Given the description of an element on the screen output the (x, y) to click on. 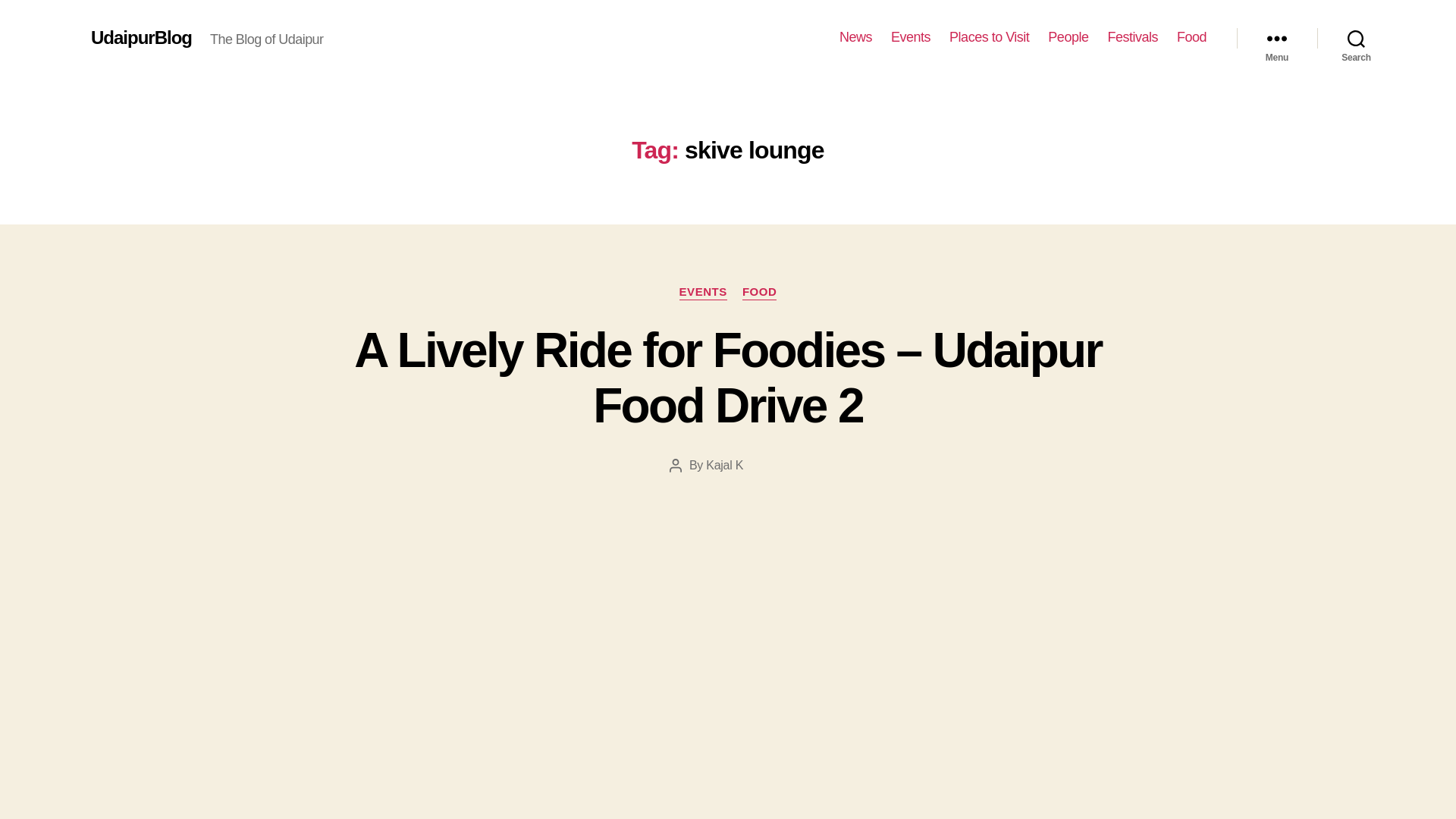
FOOD (759, 292)
Festivals (1131, 37)
Kajal K (724, 464)
People (1067, 37)
Search (1355, 37)
Food (1191, 37)
News (856, 37)
UdaipurBlog (141, 37)
Menu (1276, 37)
Events (910, 37)
